Given the description of an element on the screen output the (x, y) to click on. 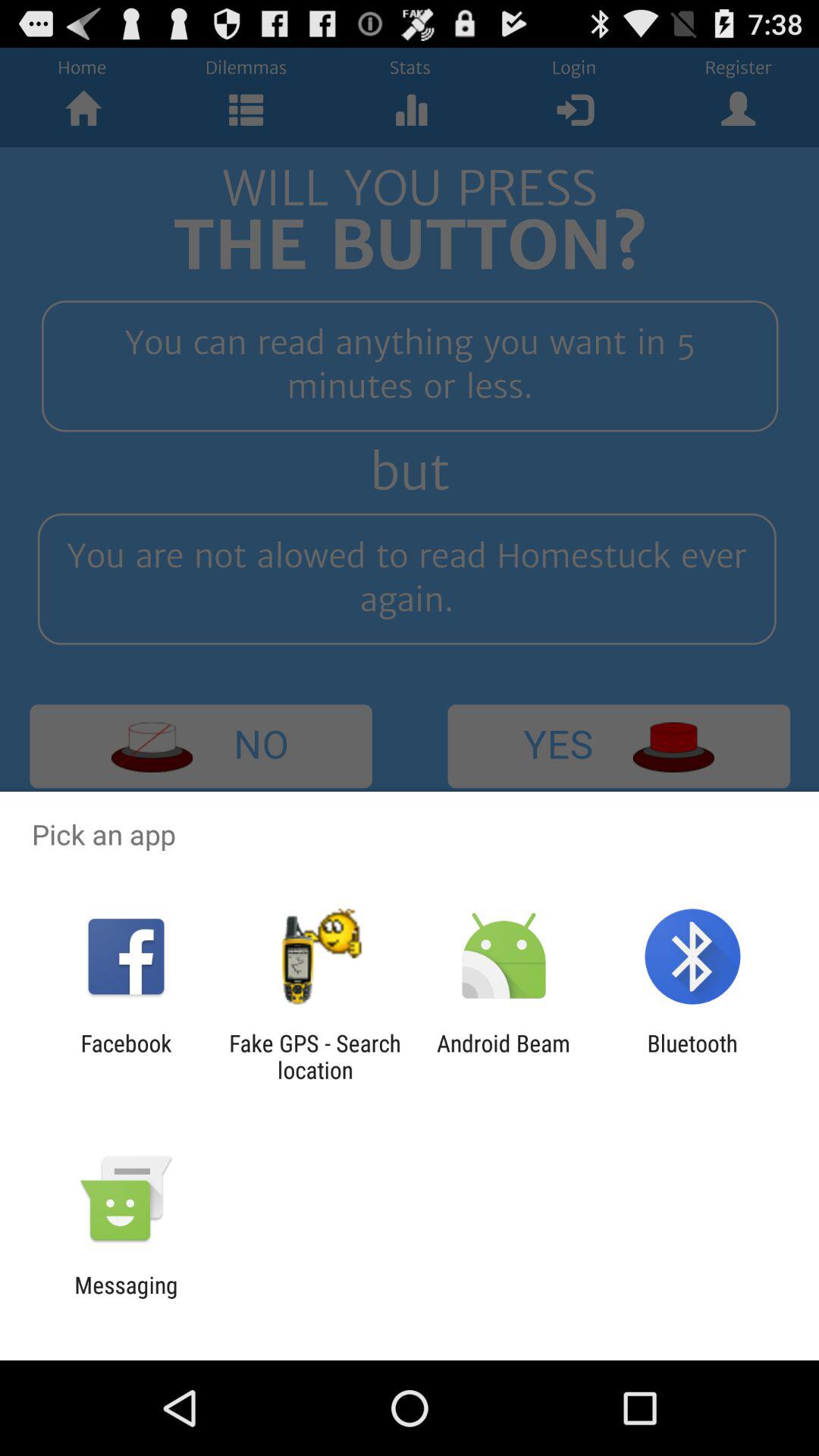
open item next to the bluetooth icon (503, 1056)
